Given the description of an element on the screen output the (x, y) to click on. 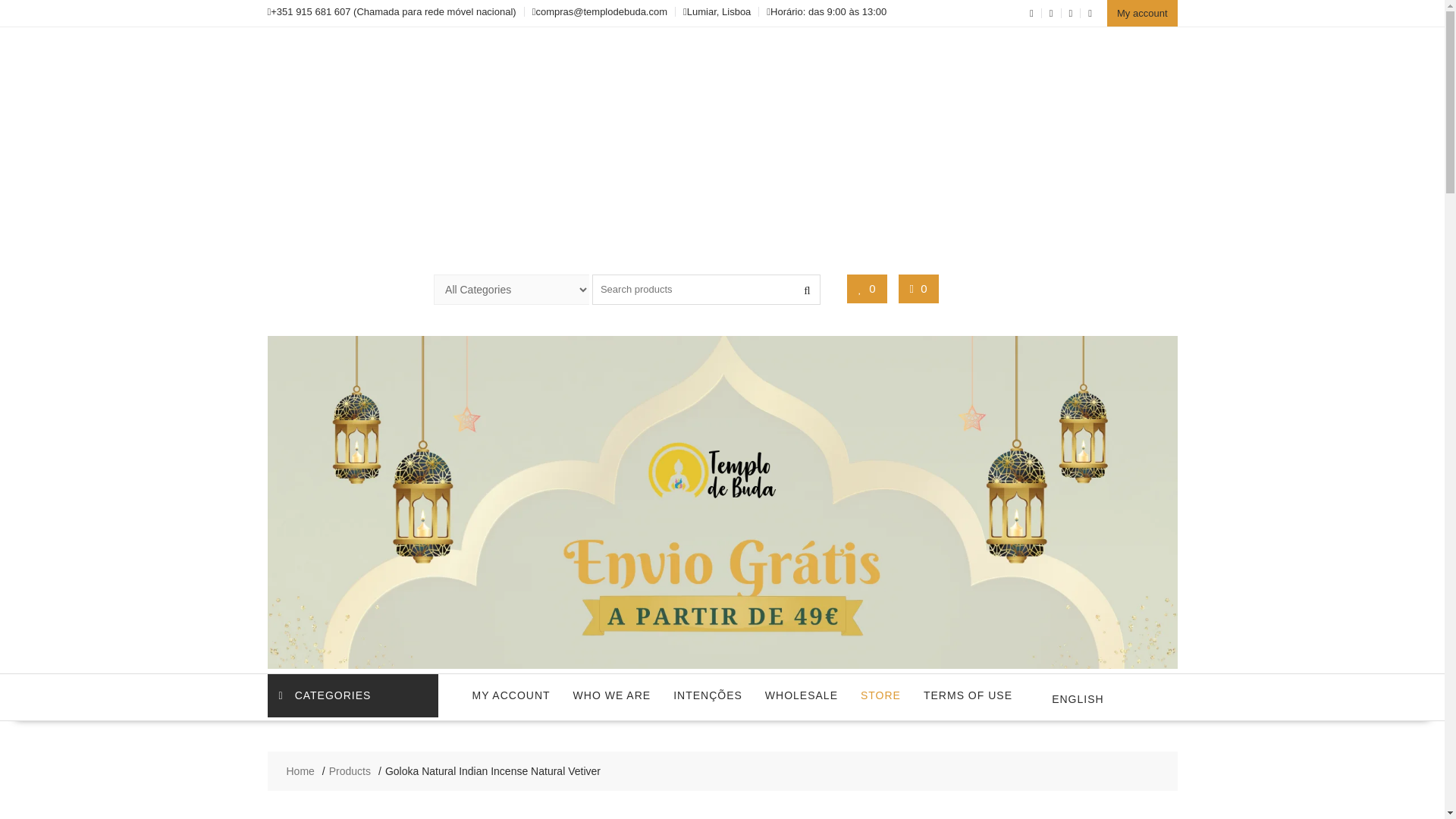
0 (918, 287)
My account (1141, 13)
0 (867, 287)
English (1069, 697)
WHO WE ARE (612, 695)
CATEGORIES (352, 695)
MY ACCOUNT (511, 695)
